Given the description of an element on the screen output the (x, y) to click on. 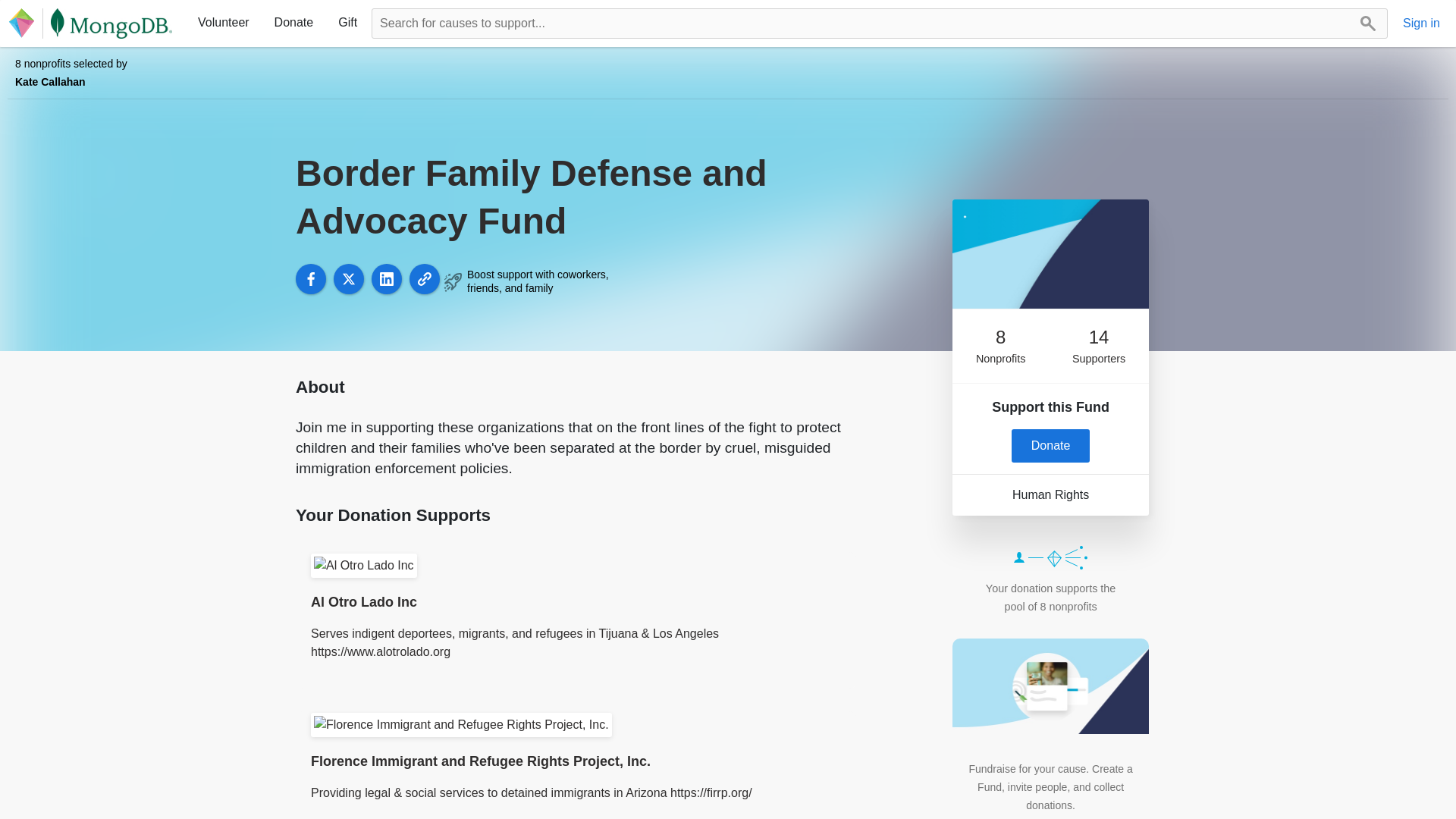
Sign in (1421, 23)
Donate (1050, 445)
Donate (293, 22)
Gift (347, 22)
Volunteer (223, 22)
